Given the description of an element on the screen output the (x, y) to click on. 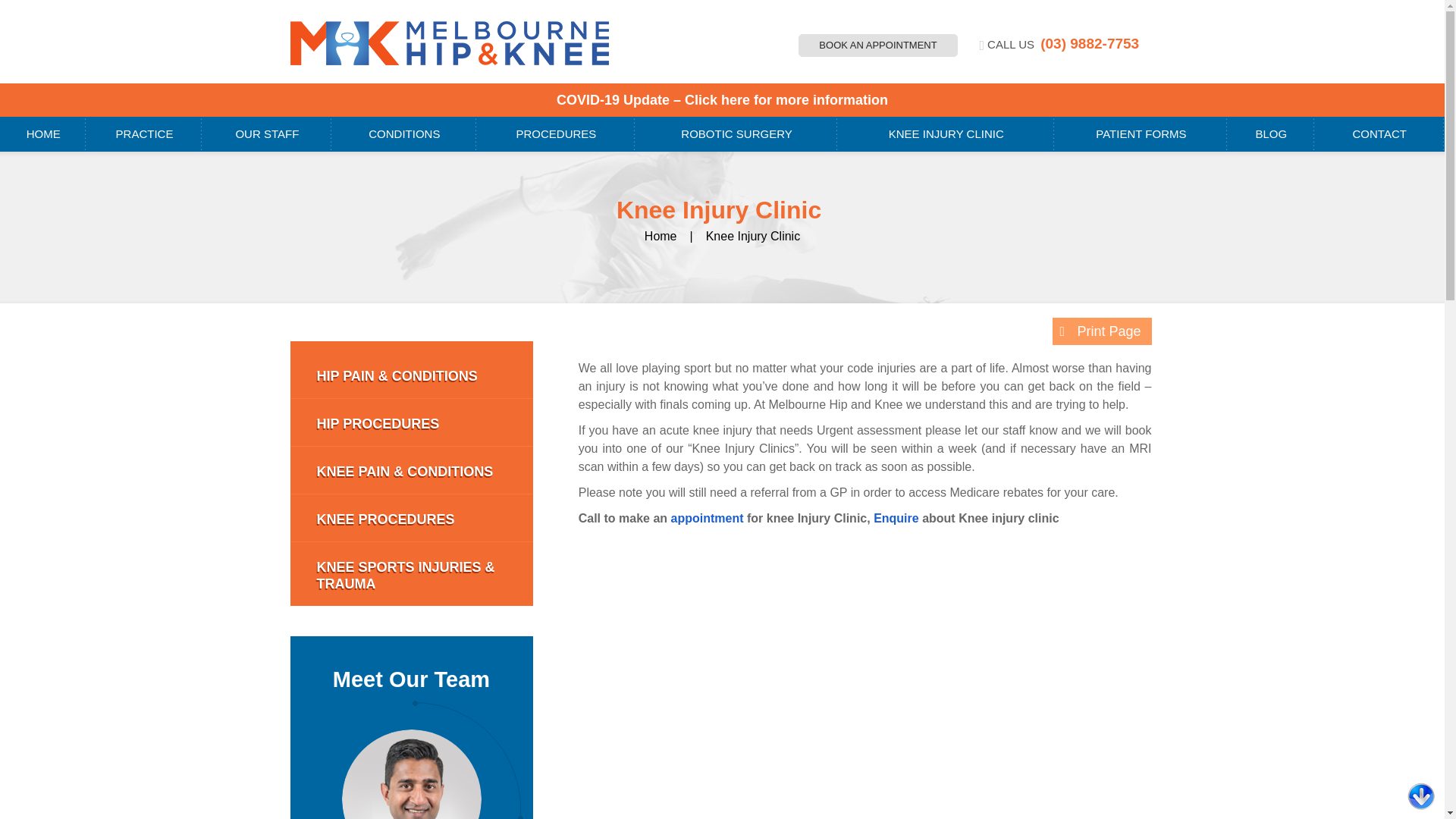
PROCEDURES (556, 134)
CONDITIONS (404, 134)
HOME (42, 134)
PRACTICE (143, 134)
BOOK AN APPOINTMENT (877, 45)
OUR STAFF (266, 134)
